Given the description of an element on the screen output the (x, y) to click on. 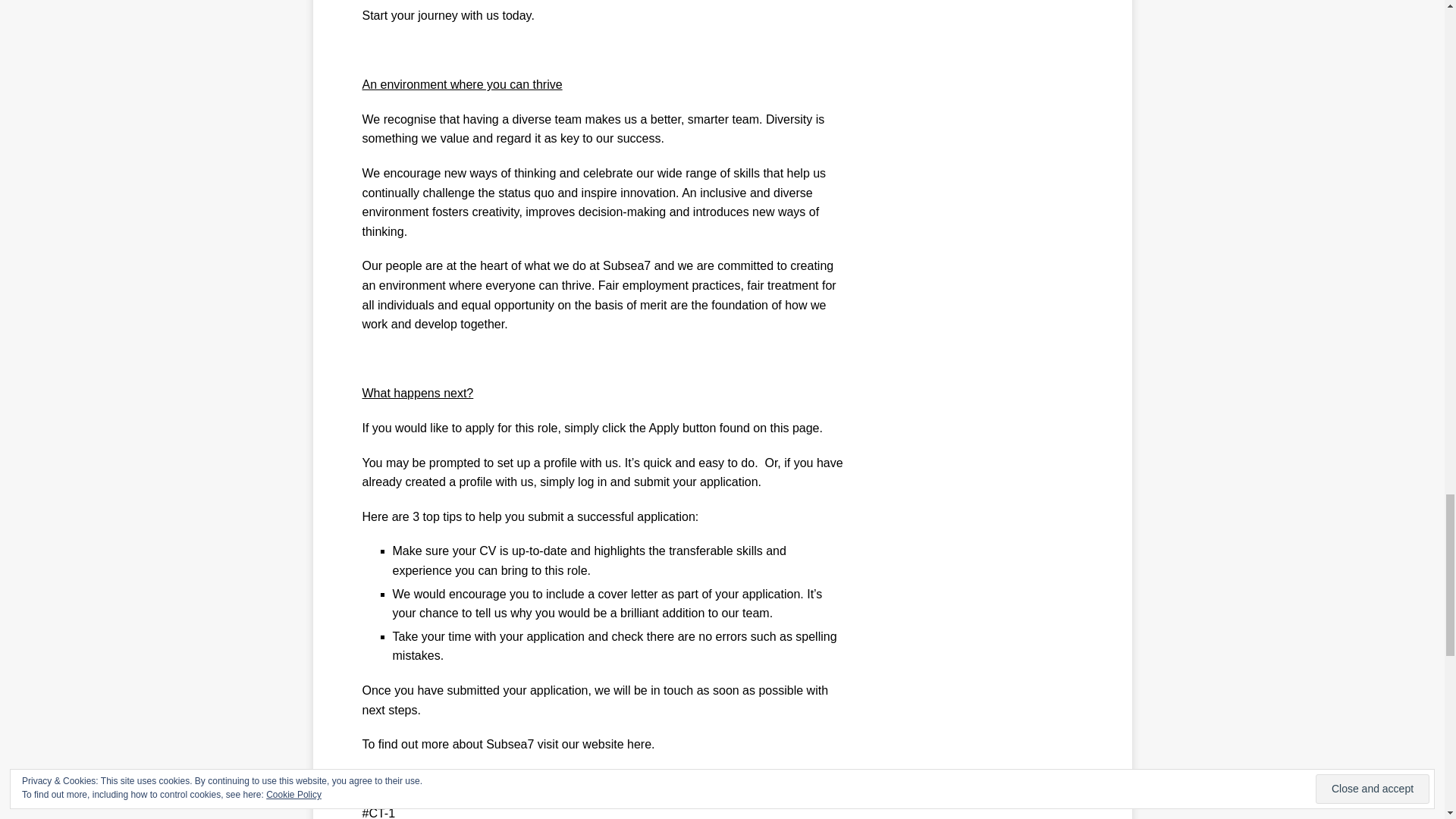
Twitter (740, 779)
